Given the description of an element on the screen output the (x, y) to click on. 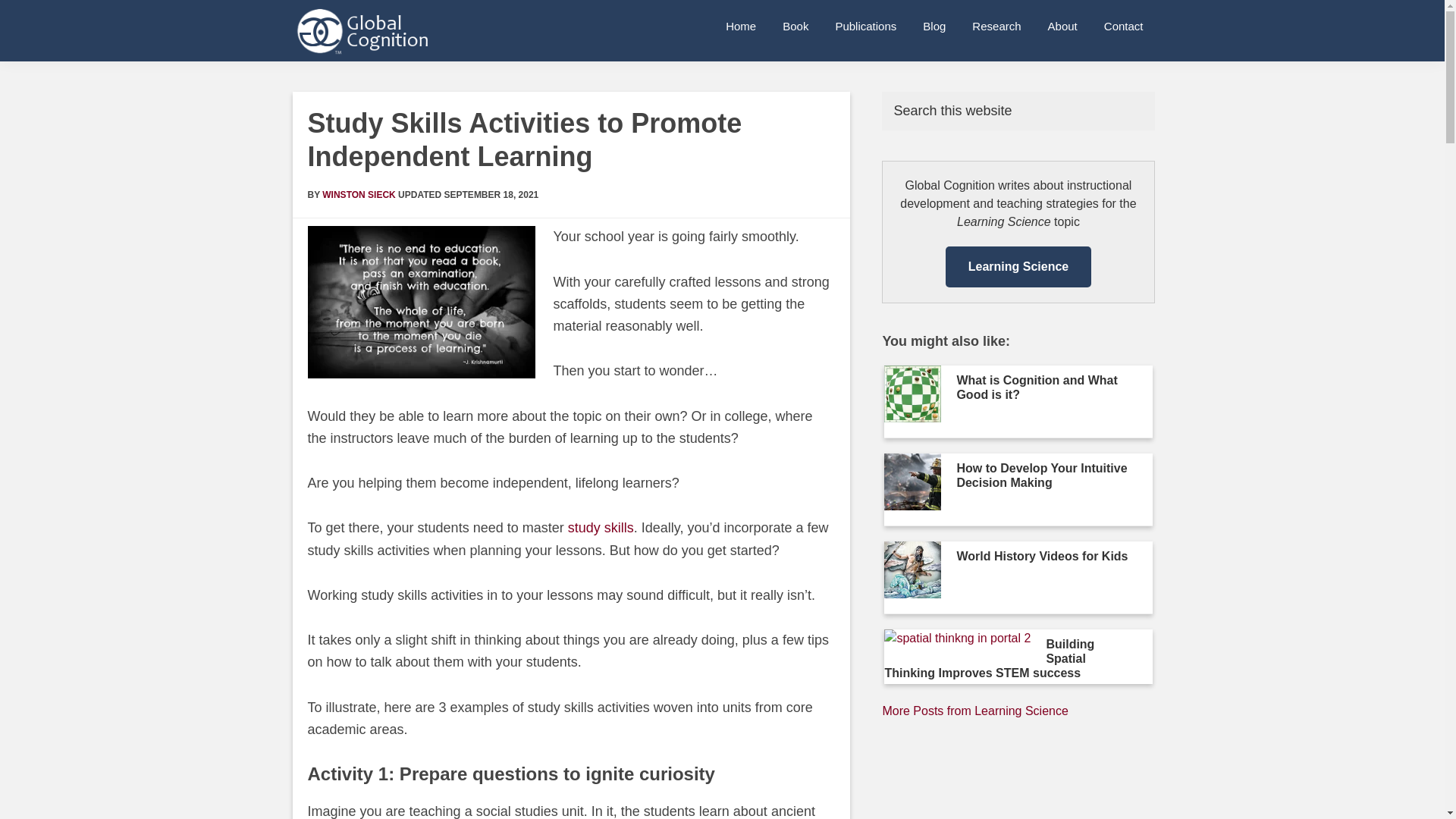
About (1062, 25)
Contact (1123, 25)
Learning Science (974, 710)
Home (740, 25)
Research (996, 25)
WINSTON SIECK (357, 194)
study skills (600, 527)
Blog (933, 25)
